Given the description of an element on the screen output the (x, y) to click on. 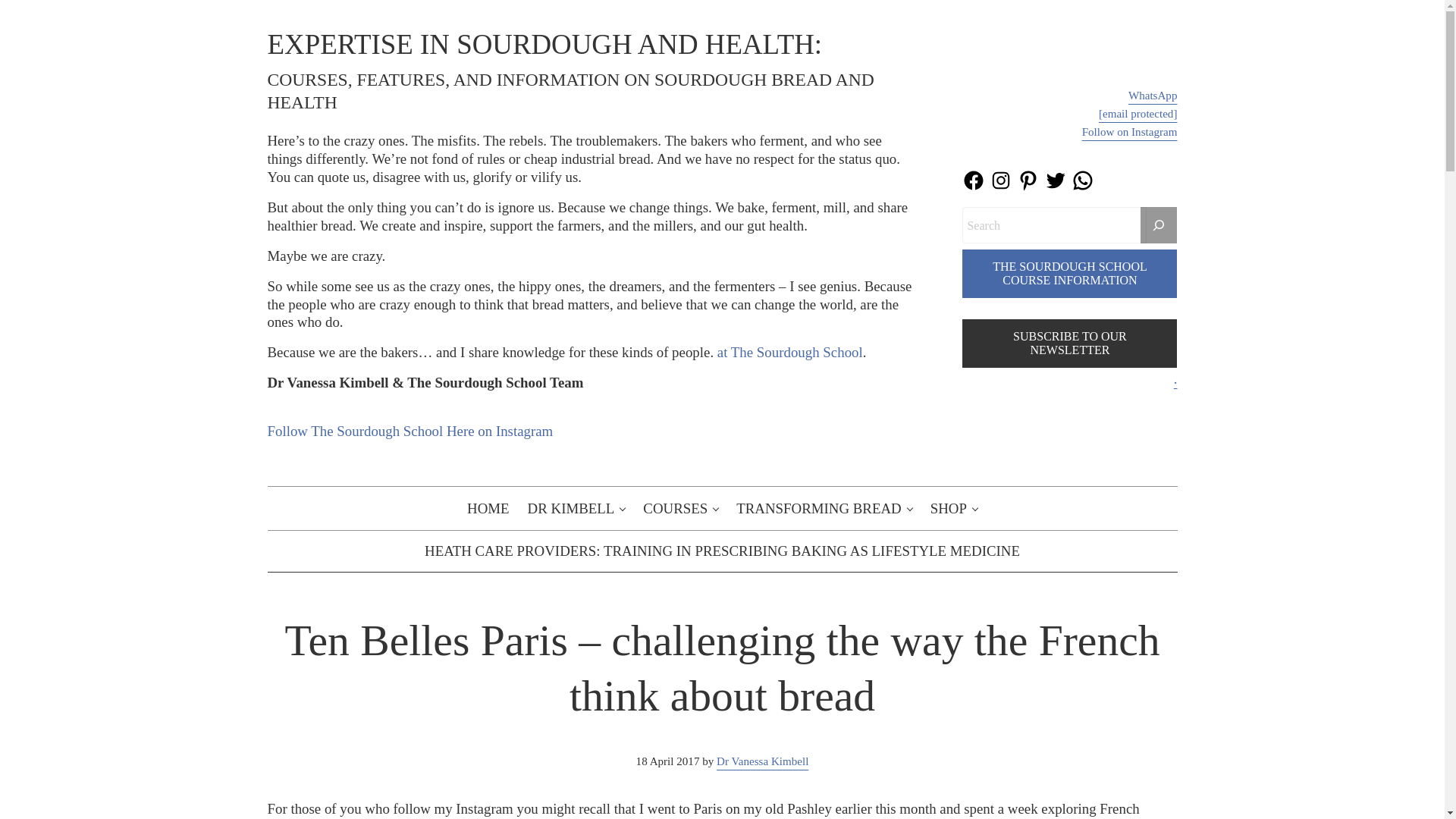
TRANSFORMING BREAD (823, 508)
Pinterest (1027, 179)
WhatsApp (1152, 95)
SHOP (954, 508)
WhatsApp (1082, 179)
Follow The Sourdough School Here on Instagram (409, 430)
THE SOURDOUGH SCHOOL COURSE INFORMATION (1069, 273)
DR KIMBELL (576, 508)
at The Sourdough School (790, 351)
Facebook (973, 179)
COURSES (679, 508)
HOME (488, 508)
EXPERTISE IN SOURDOUGH AND HEALTH: (544, 43)
Follow on Instagram (1129, 132)
